Given the description of an element on the screen output the (x, y) to click on. 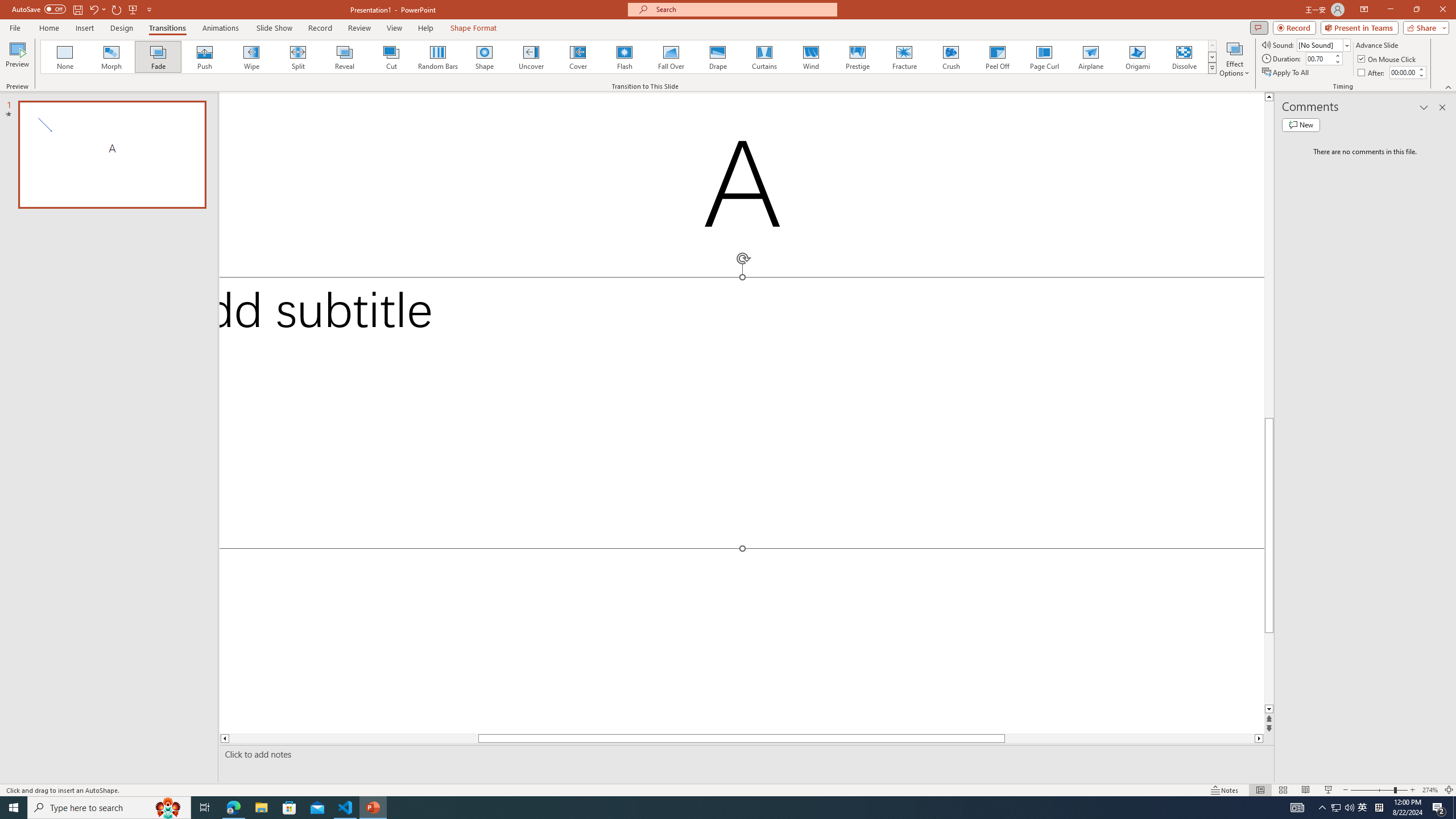
Split (298, 56)
Crush (950, 56)
Transition Effects (1212, 67)
Dissolve (1183, 56)
Drape (717, 56)
Zoom 274% (1430, 790)
Prestige (857, 56)
New comment (1300, 124)
Sound (1324, 44)
